Given the description of an element on the screen output the (x, y) to click on. 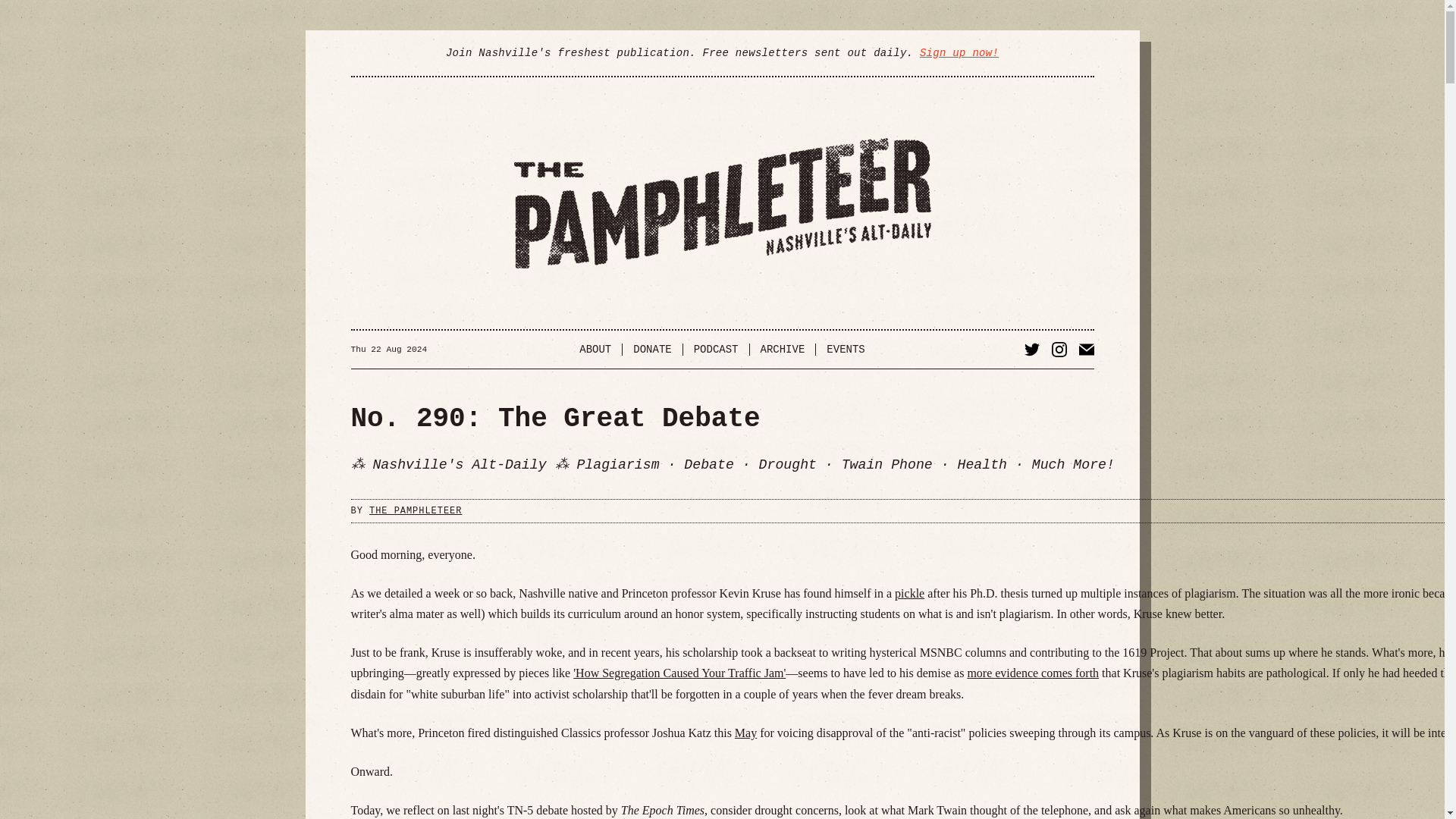
pickle (909, 593)
more evidence comes forth (1032, 672)
Sign up now! (959, 52)
May (746, 732)
ABOUT (596, 349)
DONATE (652, 349)
PODCAST (715, 349)
ARCHIVE (782, 349)
THE PAMPHLETEER (415, 511)
EVENTS (845, 349)
